Given the description of an element on the screen output the (x, y) to click on. 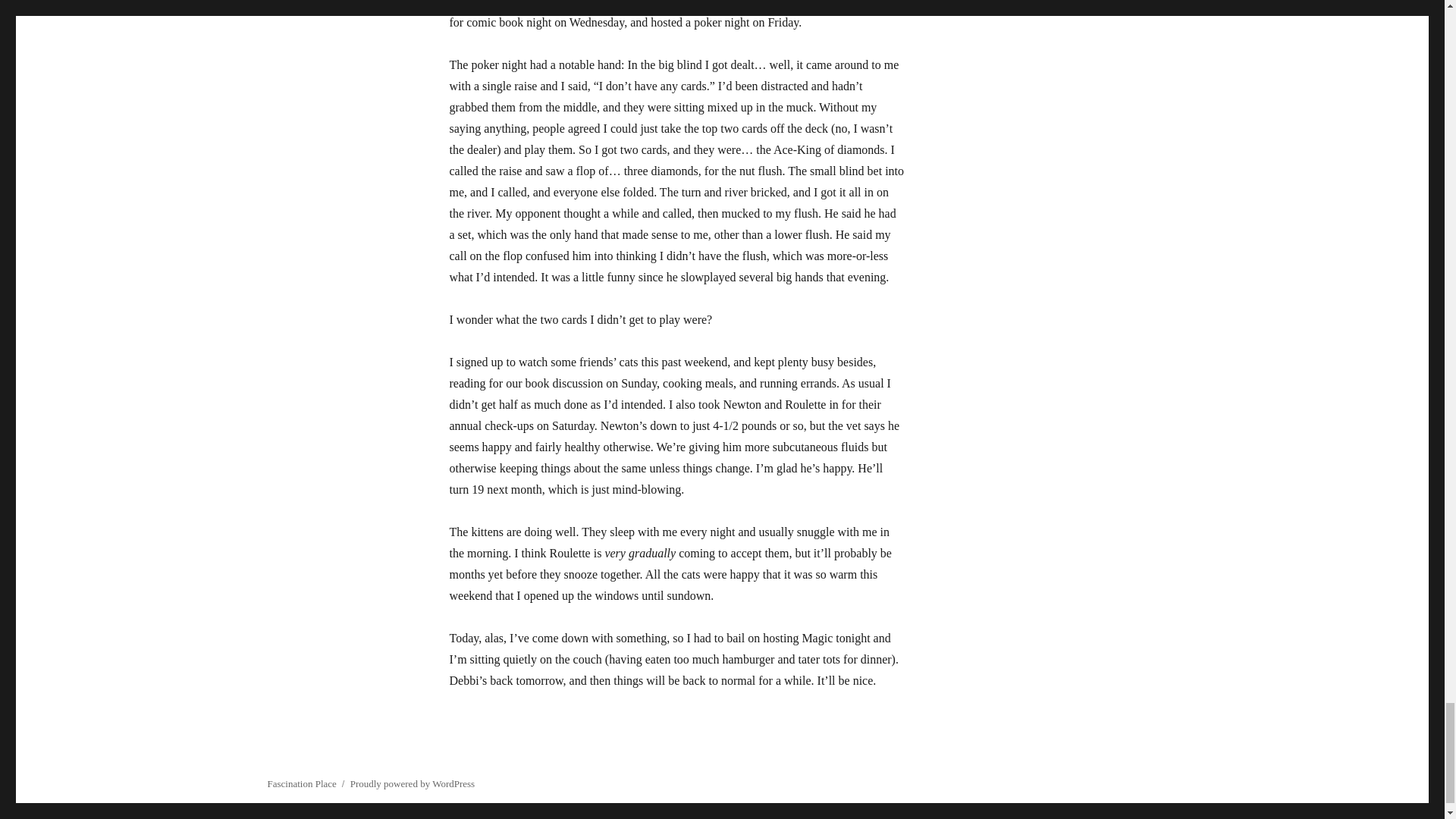
Dana Street (859, 3)
